Given the description of an element on the screen output the (x, y) to click on. 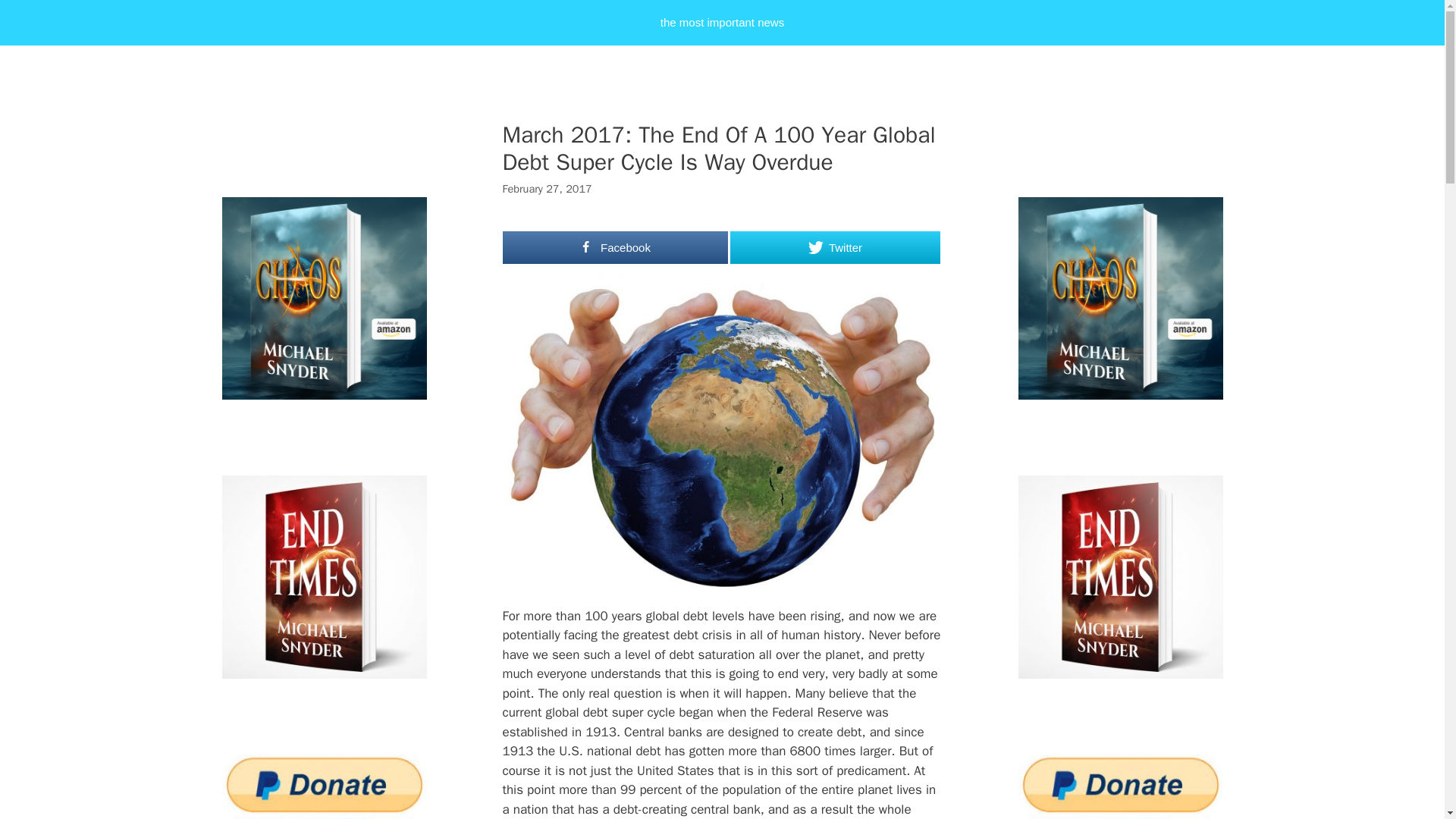
Twitter (834, 246)
Facebook (615, 246)
the most important news (722, 22)
Facebook (615, 246)
Twitter (834, 246)
the most important news (722, 22)
